Given the description of an element on the screen output the (x, y) to click on. 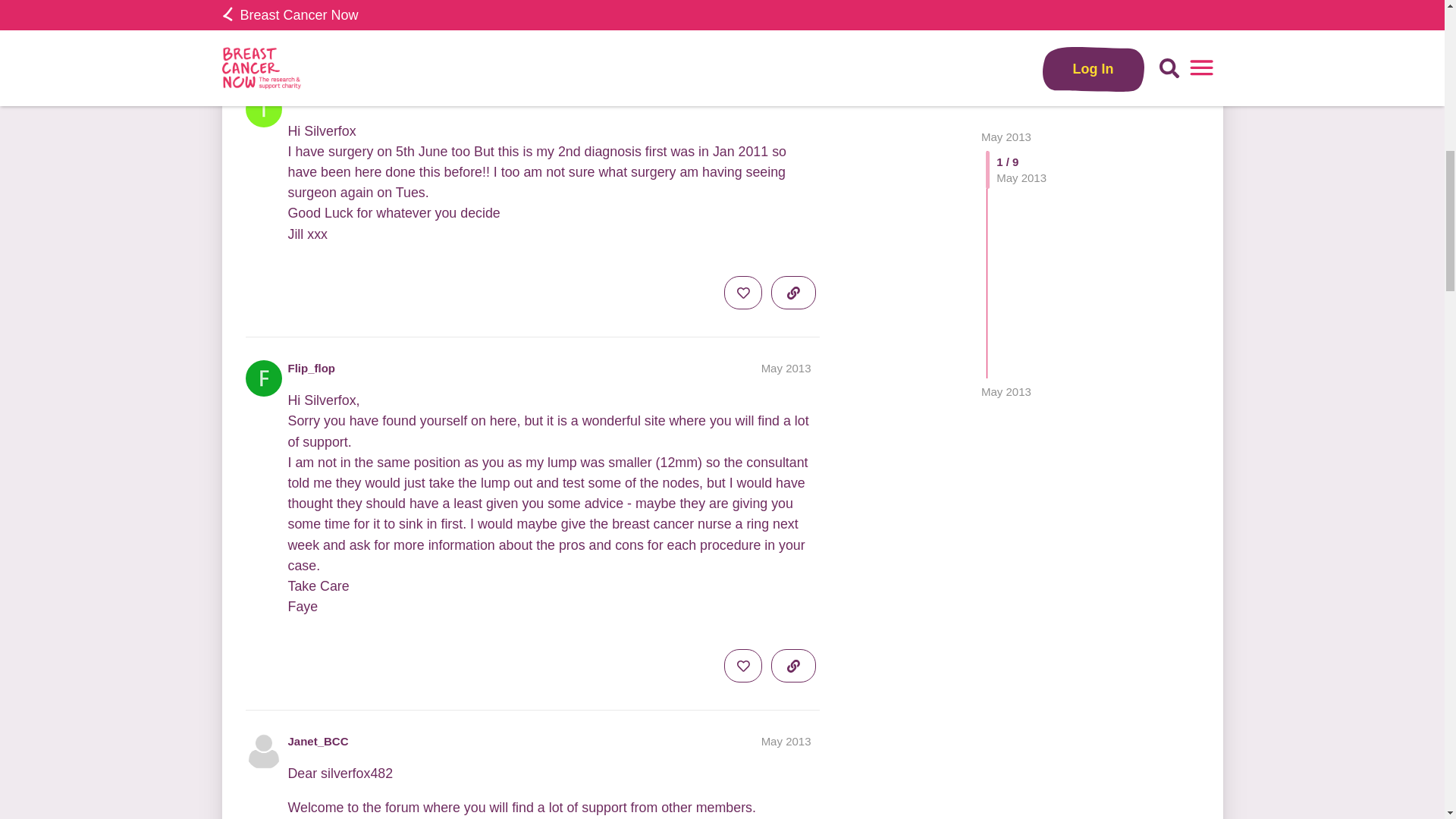
28 May 2013 05:23 (1005, 20)
last reply (417, 19)
26 May 2013 04:18 (341, 36)
May 2013 (785, 98)
May 2013 (1005, 20)
Tolliebelle (315, 98)
28 May 2013 05:23 (429, 36)
system (304, 37)
system (564, 30)
system (390, 37)
expand topic details (793, 30)
3 (566, 30)
system (566, 30)
May 2013 (785, 367)
May 2013 (785, 740)
